Given the description of an element on the screen output the (x, y) to click on. 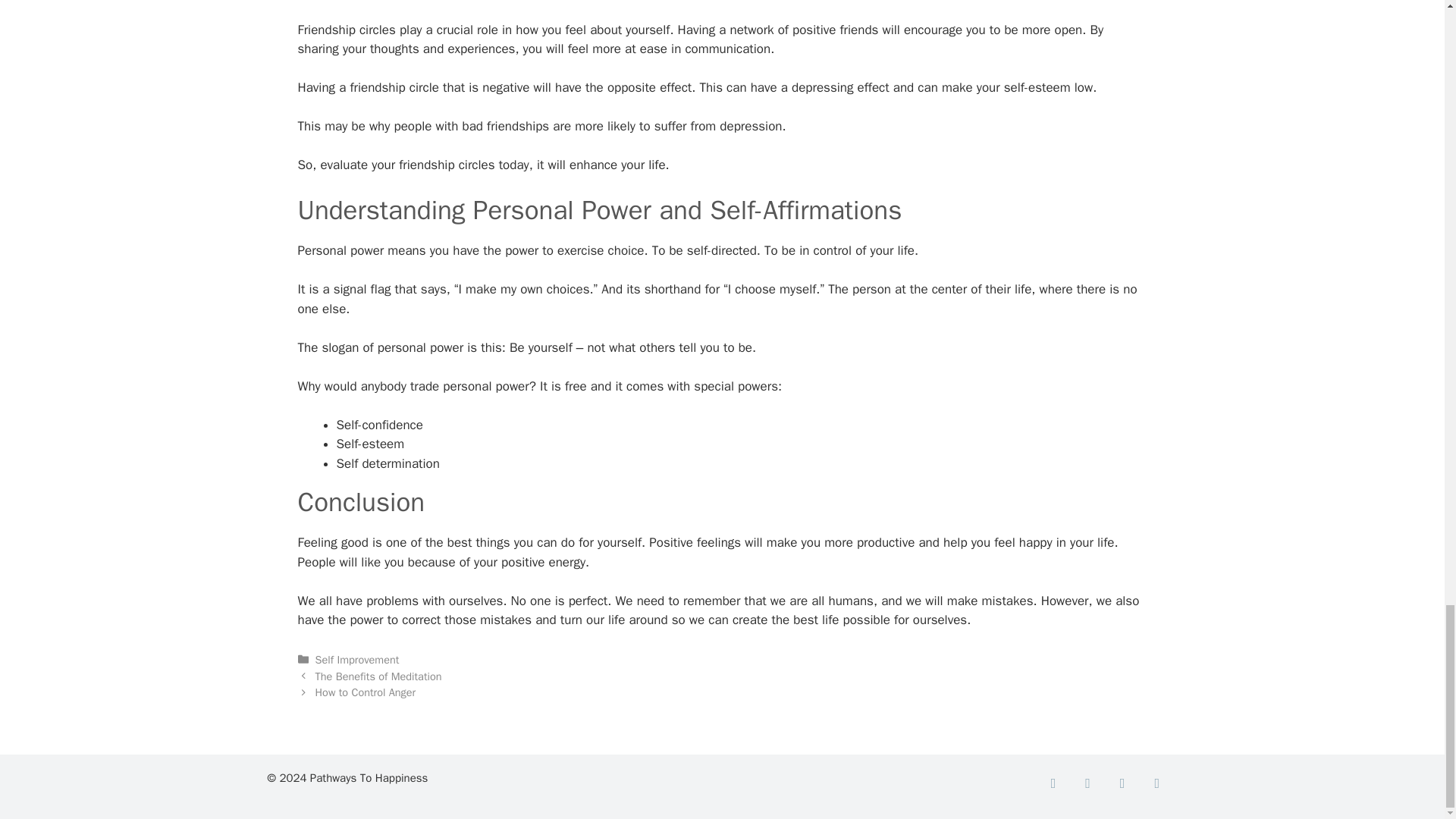
Twitter (1088, 783)
How to Control Anger (365, 692)
Facebook (1053, 783)
Instagram (1122, 783)
The Benefits of Meditation (378, 675)
Pinterest (1157, 783)
Self Improvement (356, 659)
